Given the description of an element on the screen output the (x, y) to click on. 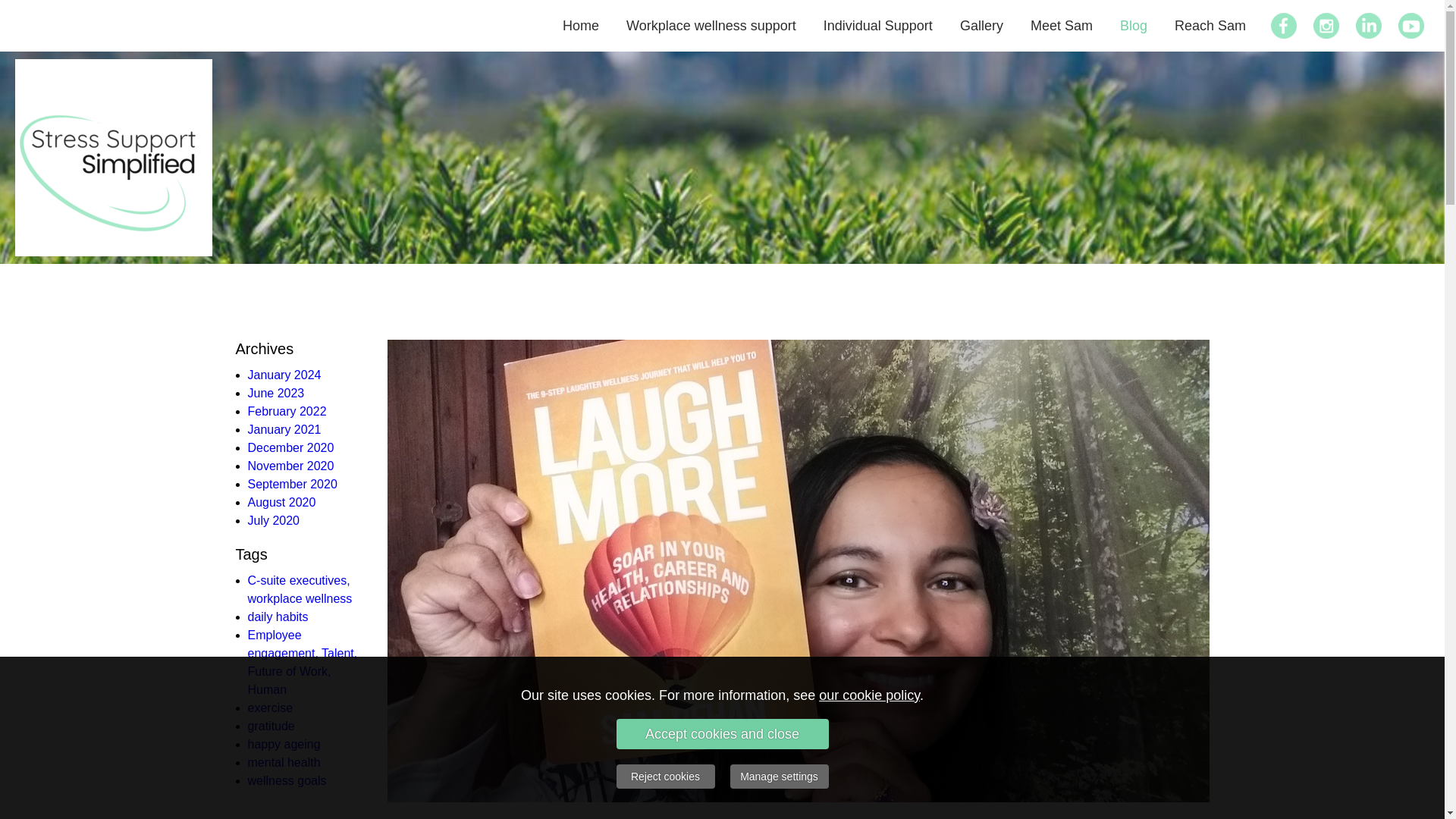
Employee engagement, Talent, Future of Work, Human (301, 662)
Home (580, 25)
August 2020 (281, 502)
January 2024 (283, 374)
Back to blog (1149, 818)
Reach Sam (1209, 25)
mental health (283, 762)
daily habits (277, 616)
C-suite executives, workplace wellness (299, 589)
wellness goals (286, 780)
